Given the description of an element on the screen output the (x, y) to click on. 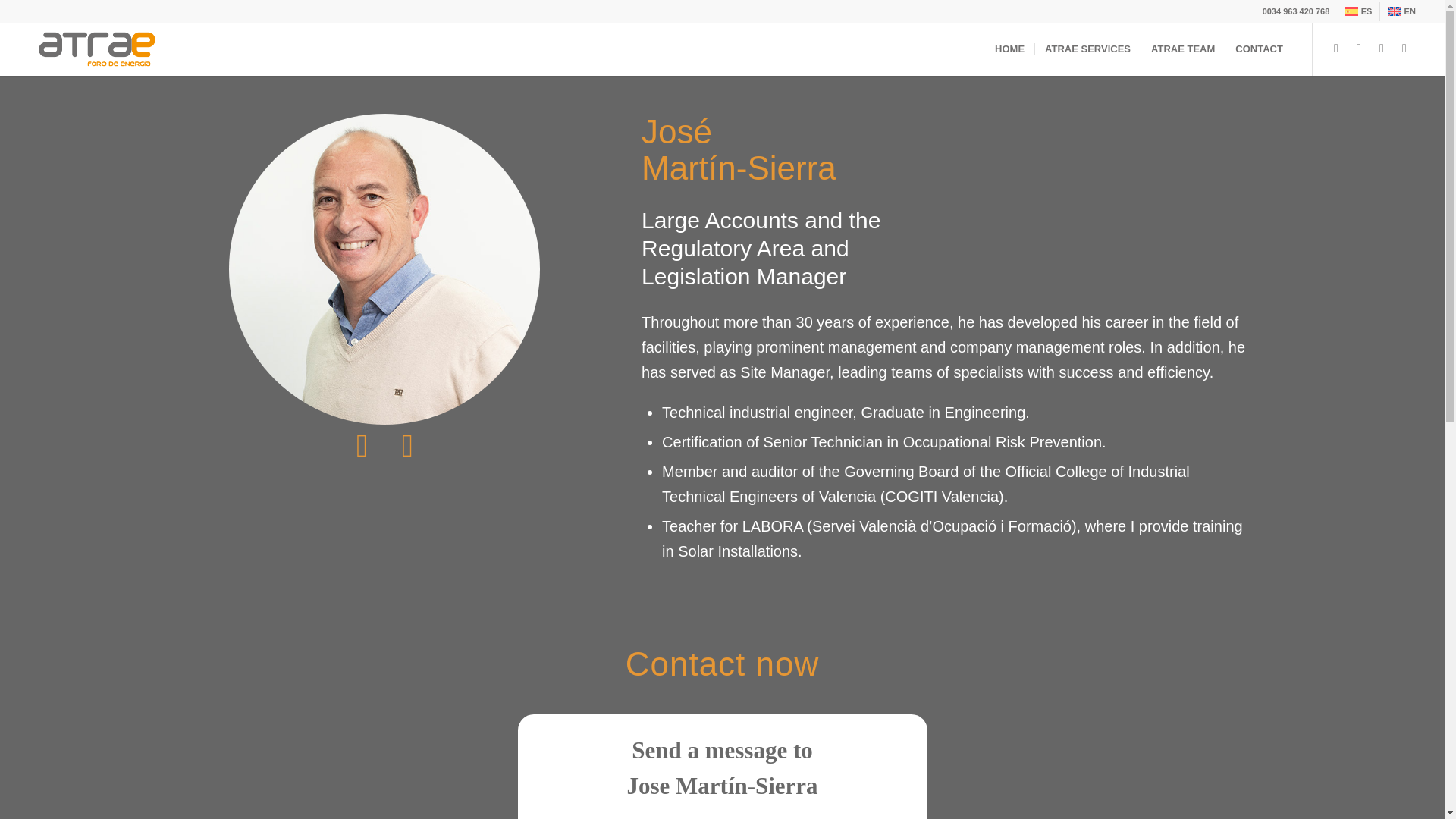
ATRAE TEAM (1182, 49)
Facebook (1359, 47)
Mail (1381, 47)
Instagram (1336, 47)
CONTACT (1258, 49)
HOME (1009, 49)
EN (1401, 11)
logo-atrae (97, 49)
EN (1401, 11)
ES (1357, 11)
ATRAE SERVICES (1086, 49)
ES (1357, 11)
LinkedIn (1404, 47)
